Given the description of an element on the screen output the (x, y) to click on. 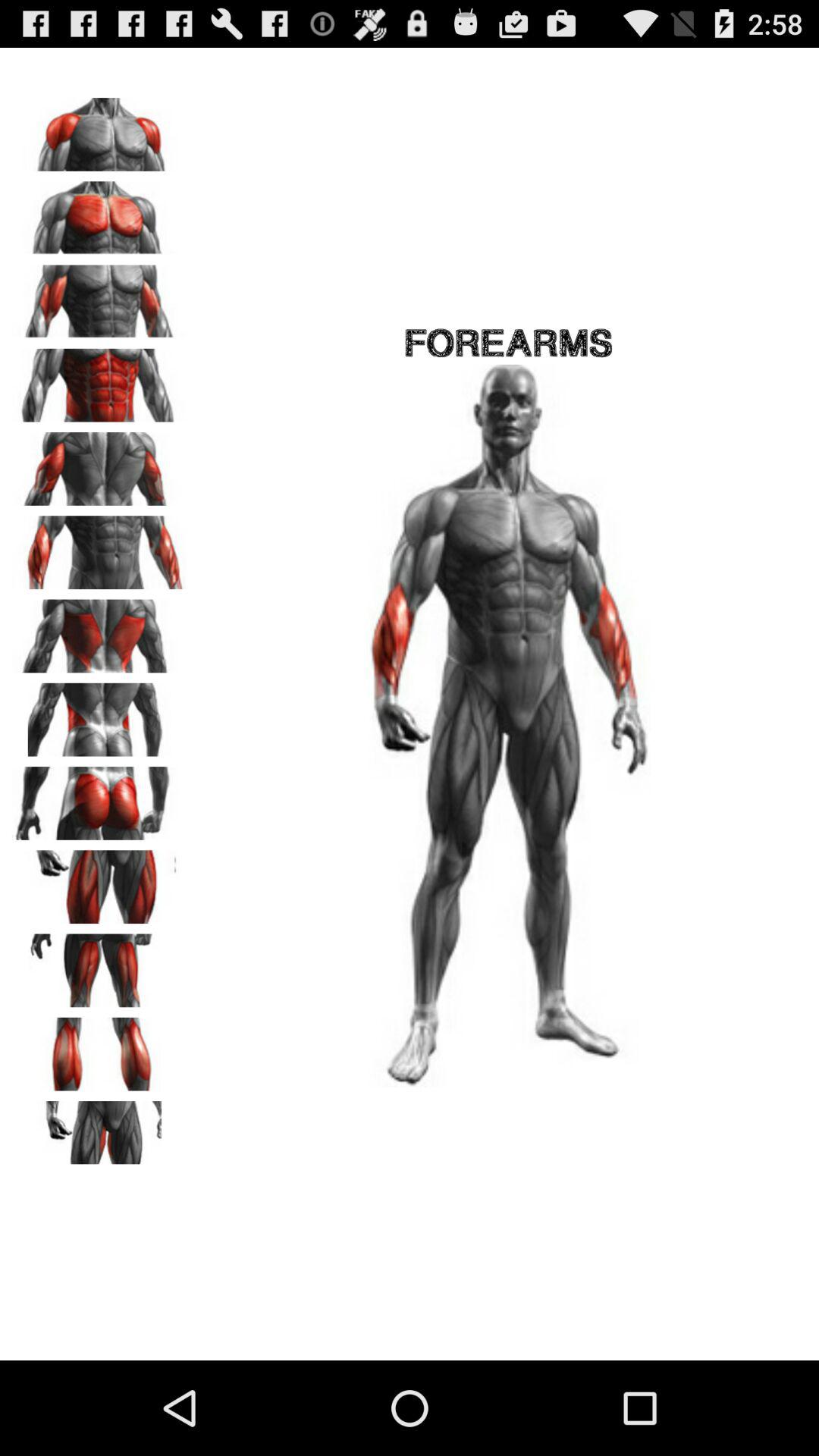
select pectoral muscles (99, 212)
